Given the description of an element on the screen output the (x, y) to click on. 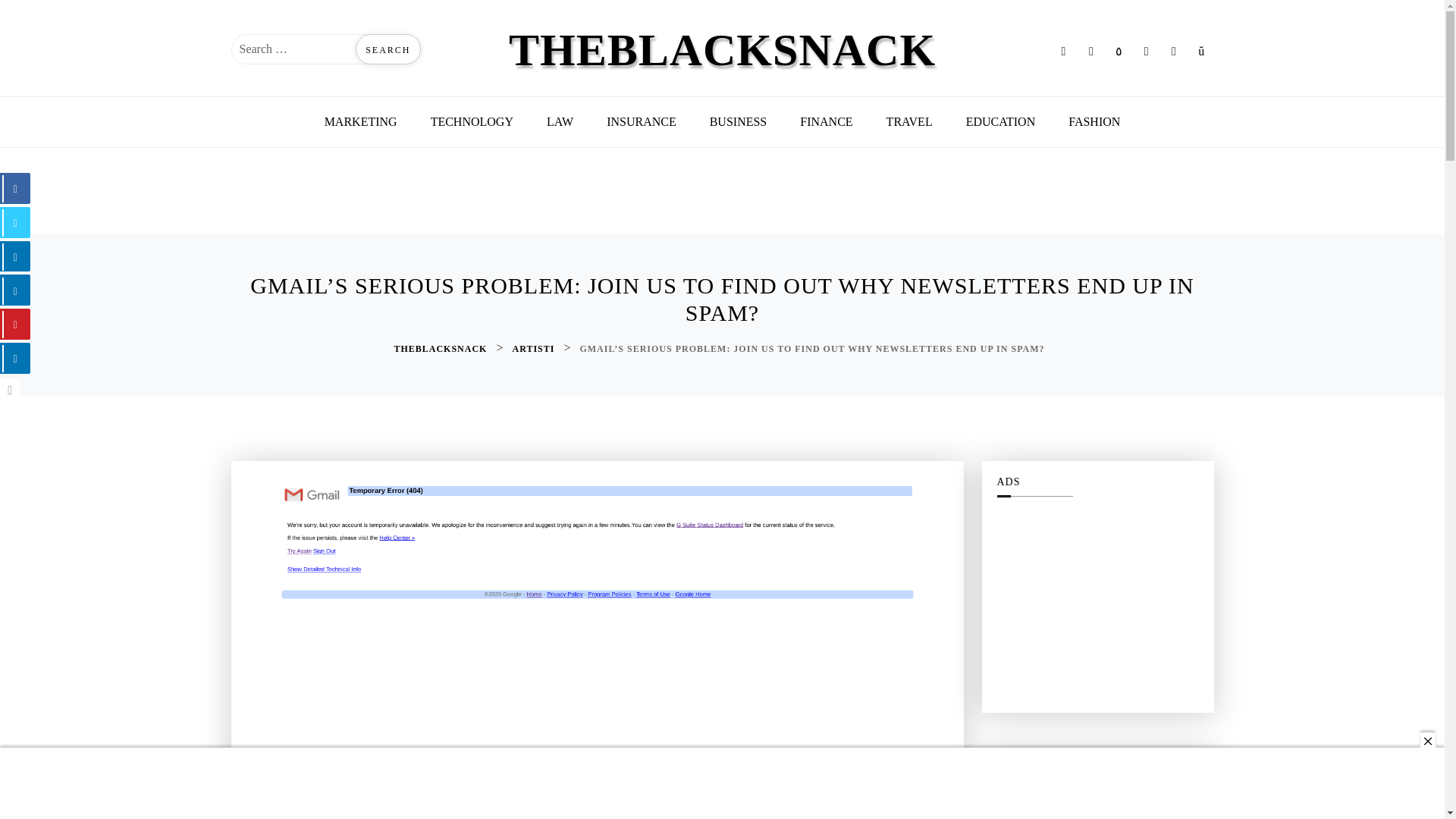
Search (387, 49)
Go to TheBlackSnack. (441, 348)
Go to the ARTISTI Category archives. (534, 348)
Search (387, 49)
